Given the description of an element on the screen output the (x, y) to click on. 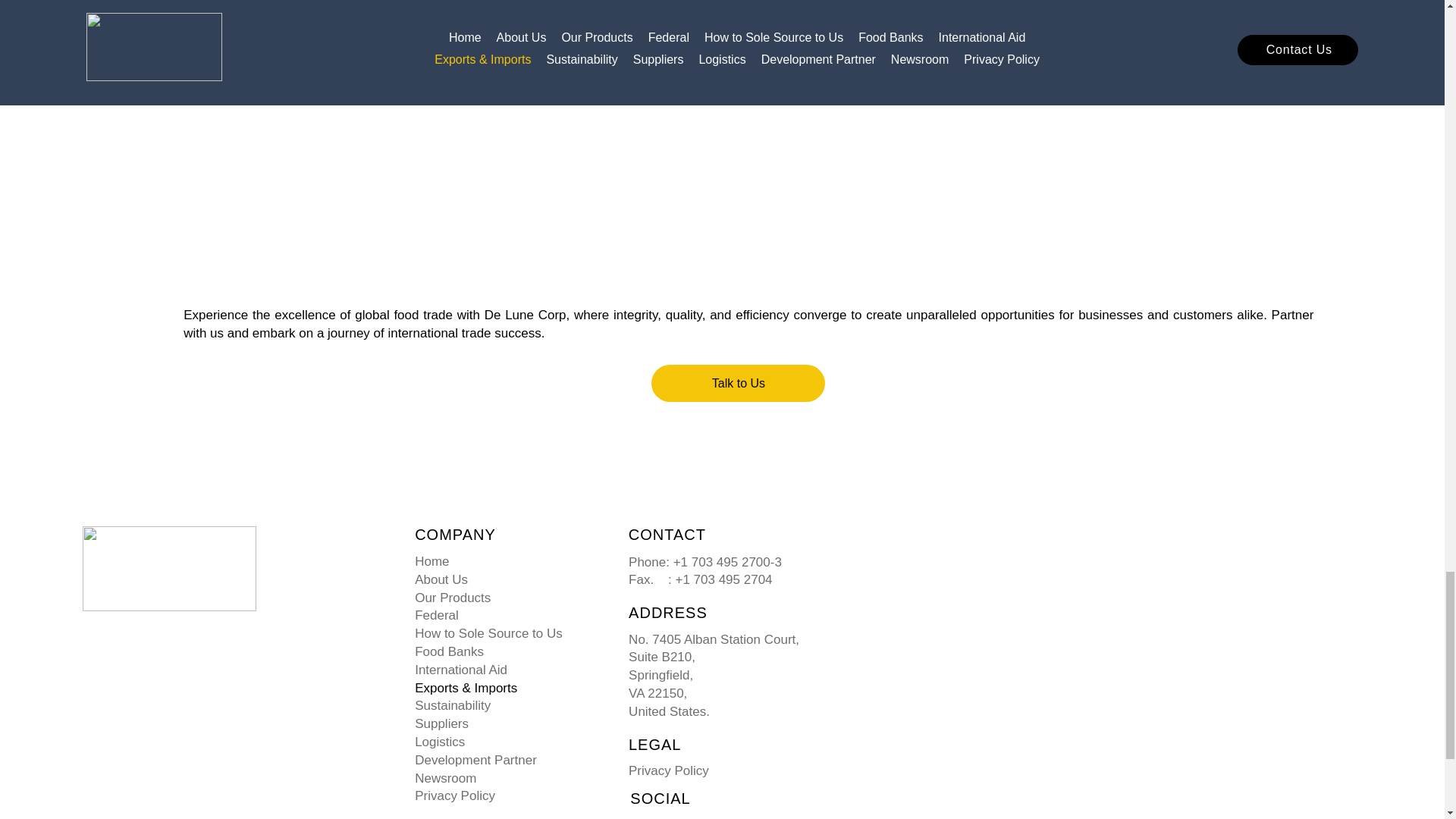
Privacy Policy (505, 796)
How to Sole Source to Us (505, 633)
Our Products (505, 597)
Home (505, 561)
About Us (505, 579)
Sustainability (505, 705)
International Aid (505, 669)
Development Partner (505, 760)
Food Banks (505, 651)
Talk to Us (737, 383)
Newsroom (505, 778)
Logistics (505, 742)
Privacy Policy (668, 770)
Suppliers (505, 723)
Federal (505, 615)
